Given the description of an element on the screen output the (x, y) to click on. 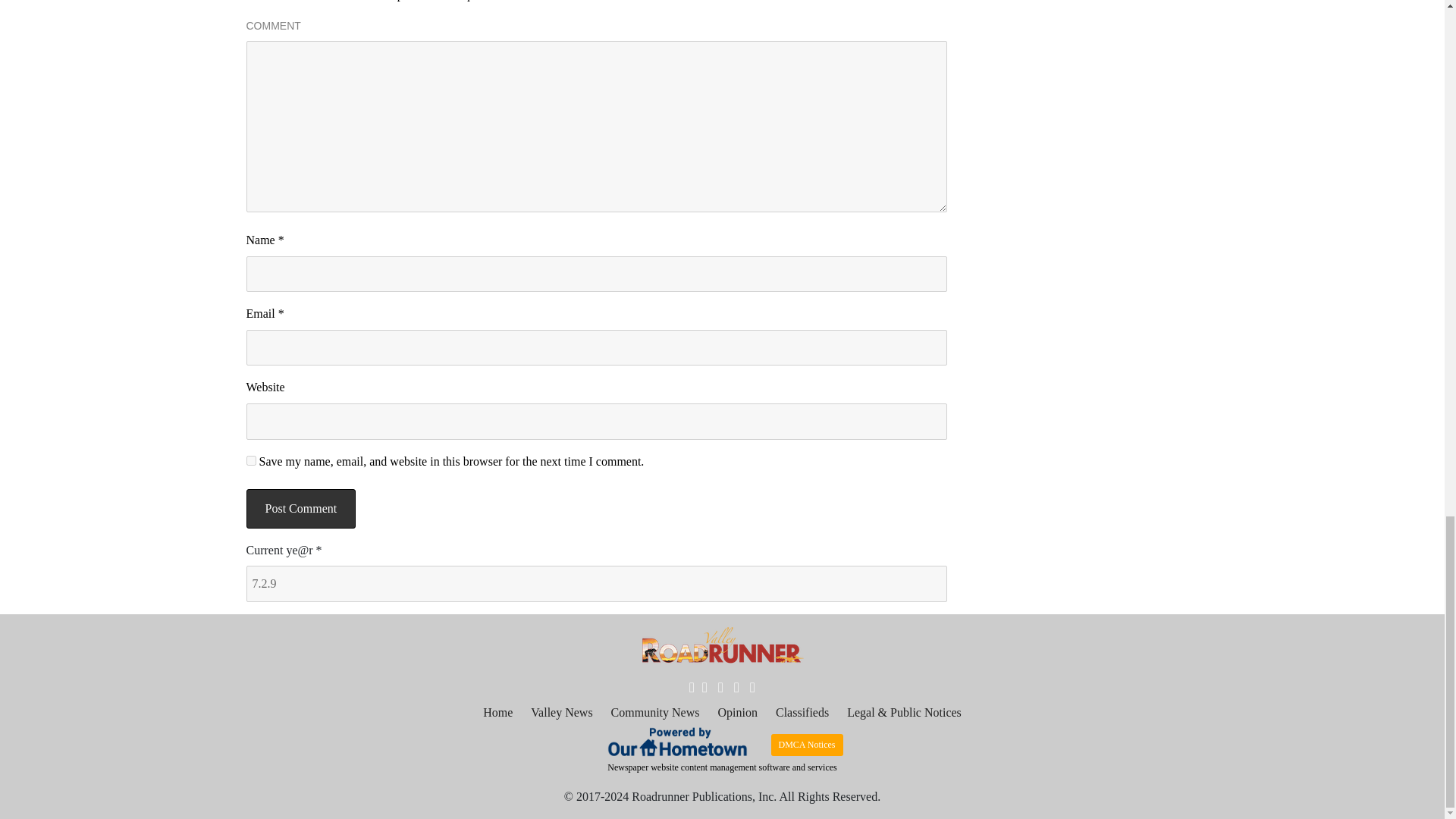
Post Comment (300, 508)
7.2.9 (596, 583)
yes (251, 460)
